Given the description of an element on the screen output the (x, y) to click on. 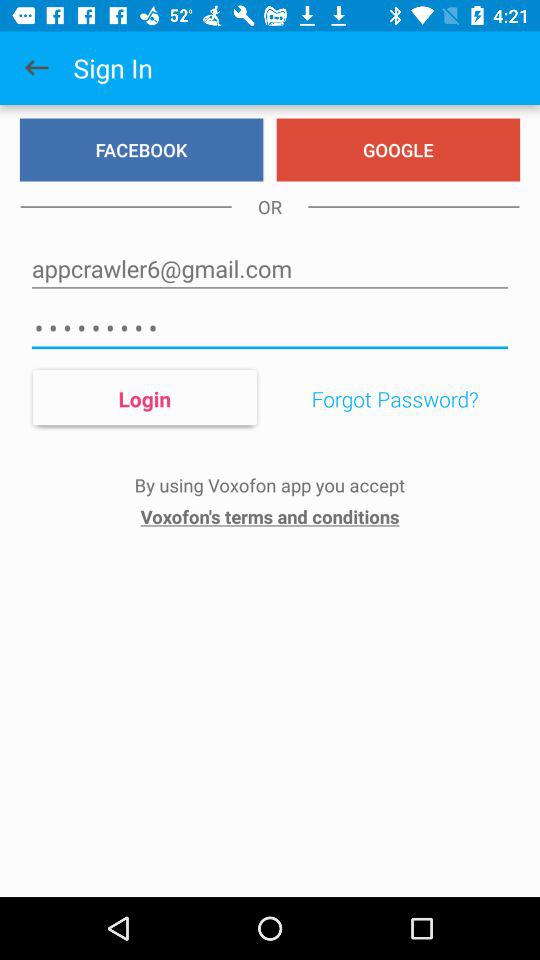
turn on forgot password? item (394, 399)
